Given the description of an element on the screen output the (x, y) to click on. 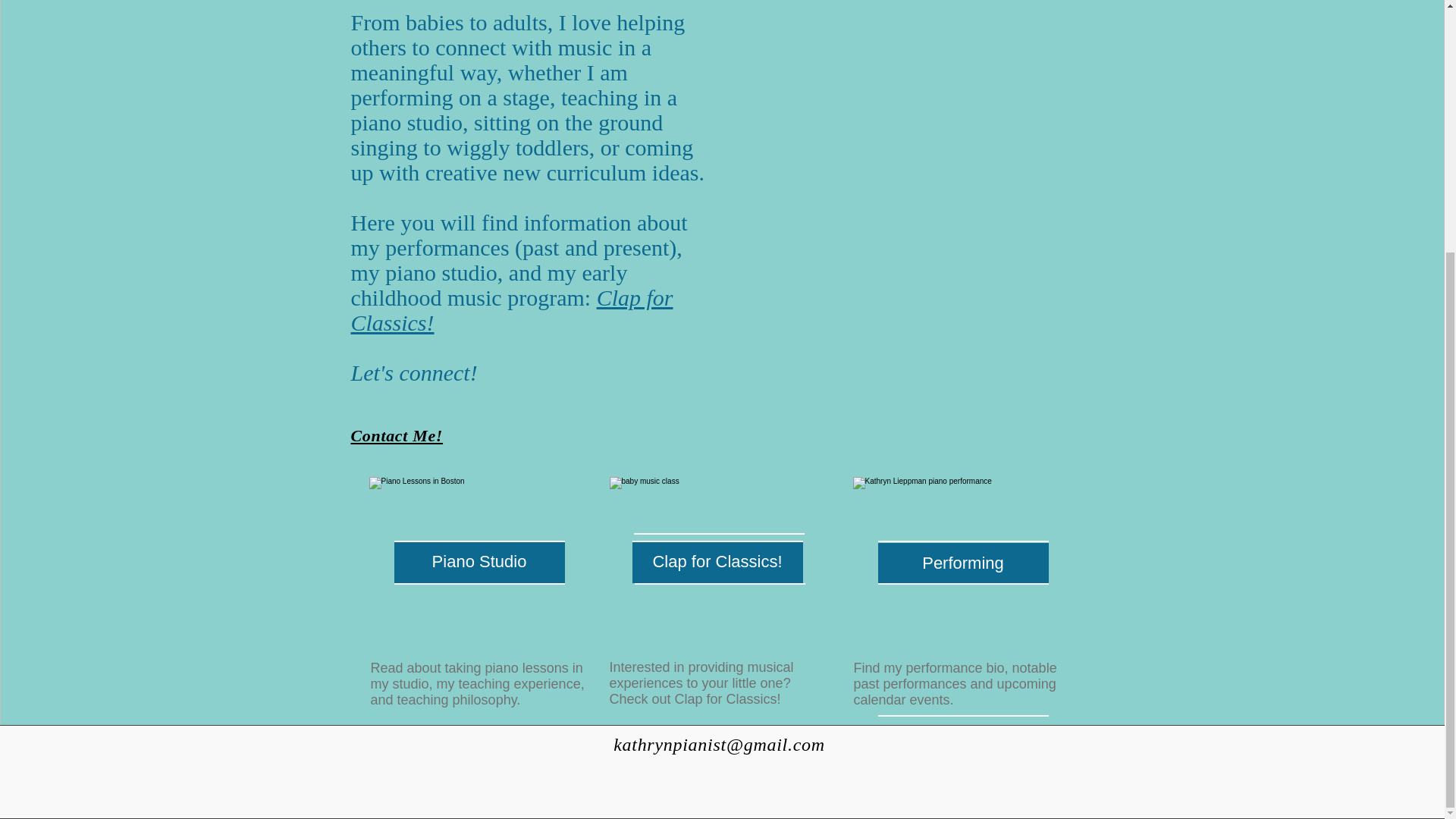
Let's connect! (413, 372)
Clap for Classics! (717, 562)
Performing (962, 563)
Contact Me! (396, 435)
Clap for Classics! (511, 309)
Piano Studio (479, 562)
